Given the description of an element on the screen output the (x, y) to click on. 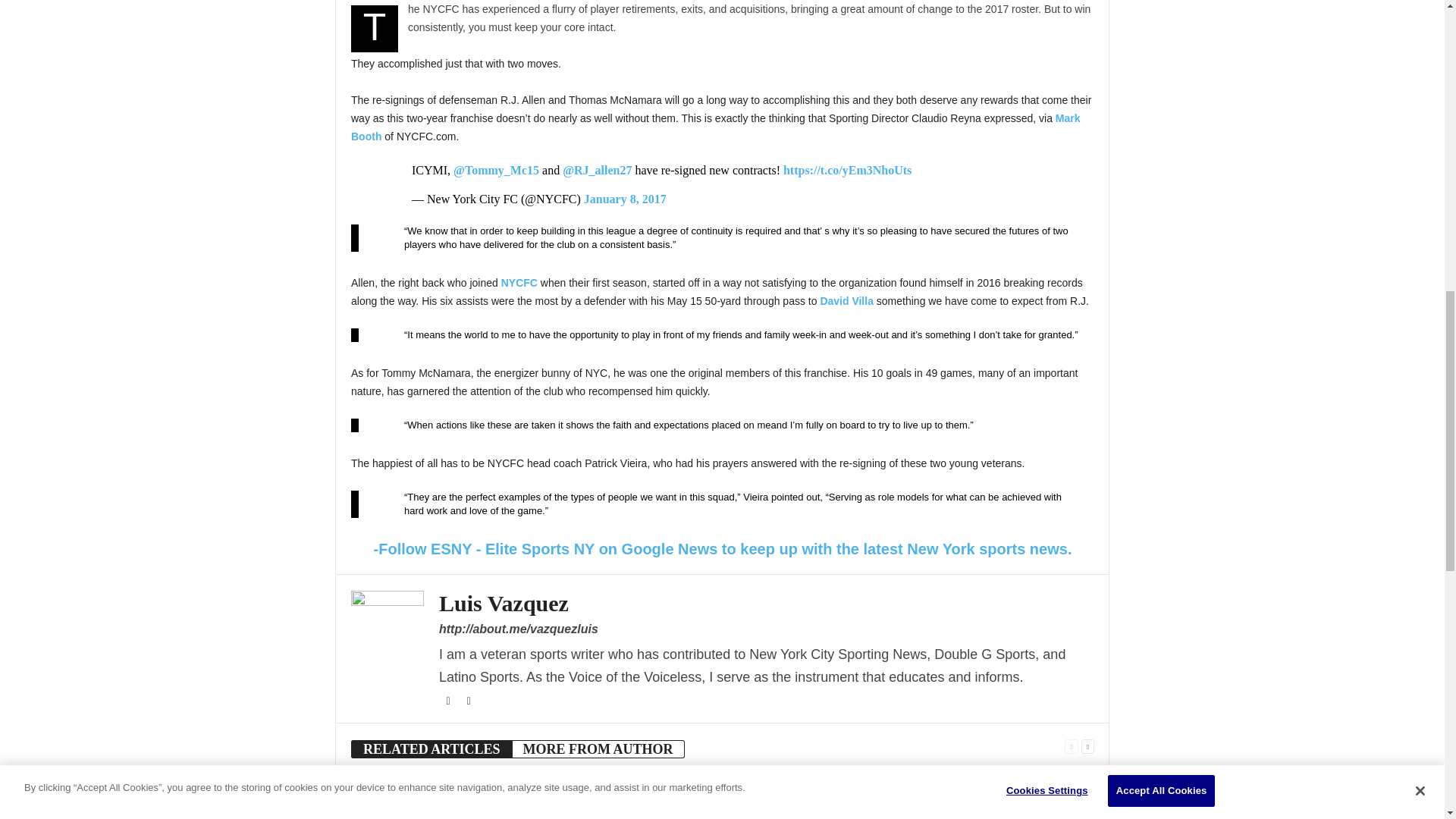
NYCFC is finally getting its own stadium (570, 796)
Linkedin (468, 701)
Facebook (449, 701)
